Given the description of an element on the screen output the (x, y) to click on. 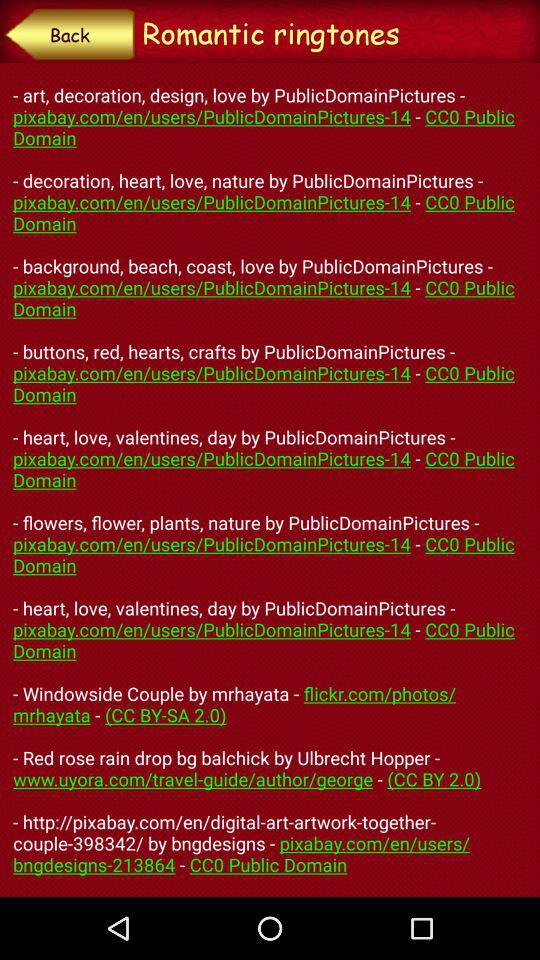
turn off back at the top left corner (69, 34)
